Given the description of an element on the screen output the (x, y) to click on. 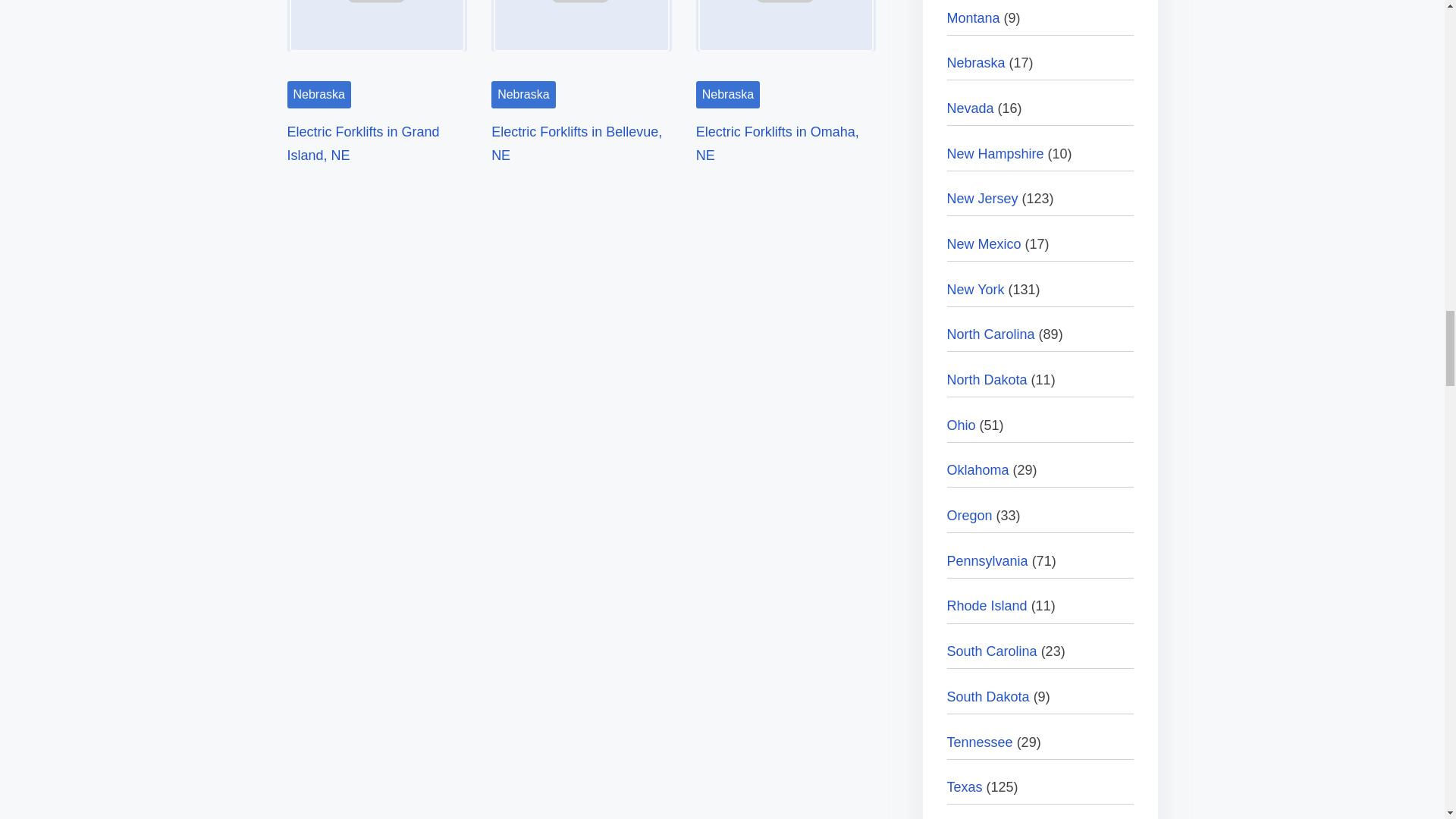
Electric Forklifts in Grand Island, NE (362, 143)
Nebraska (318, 94)
Image Placeholder (376, 36)
